Given the description of an element on the screen output the (x, y) to click on. 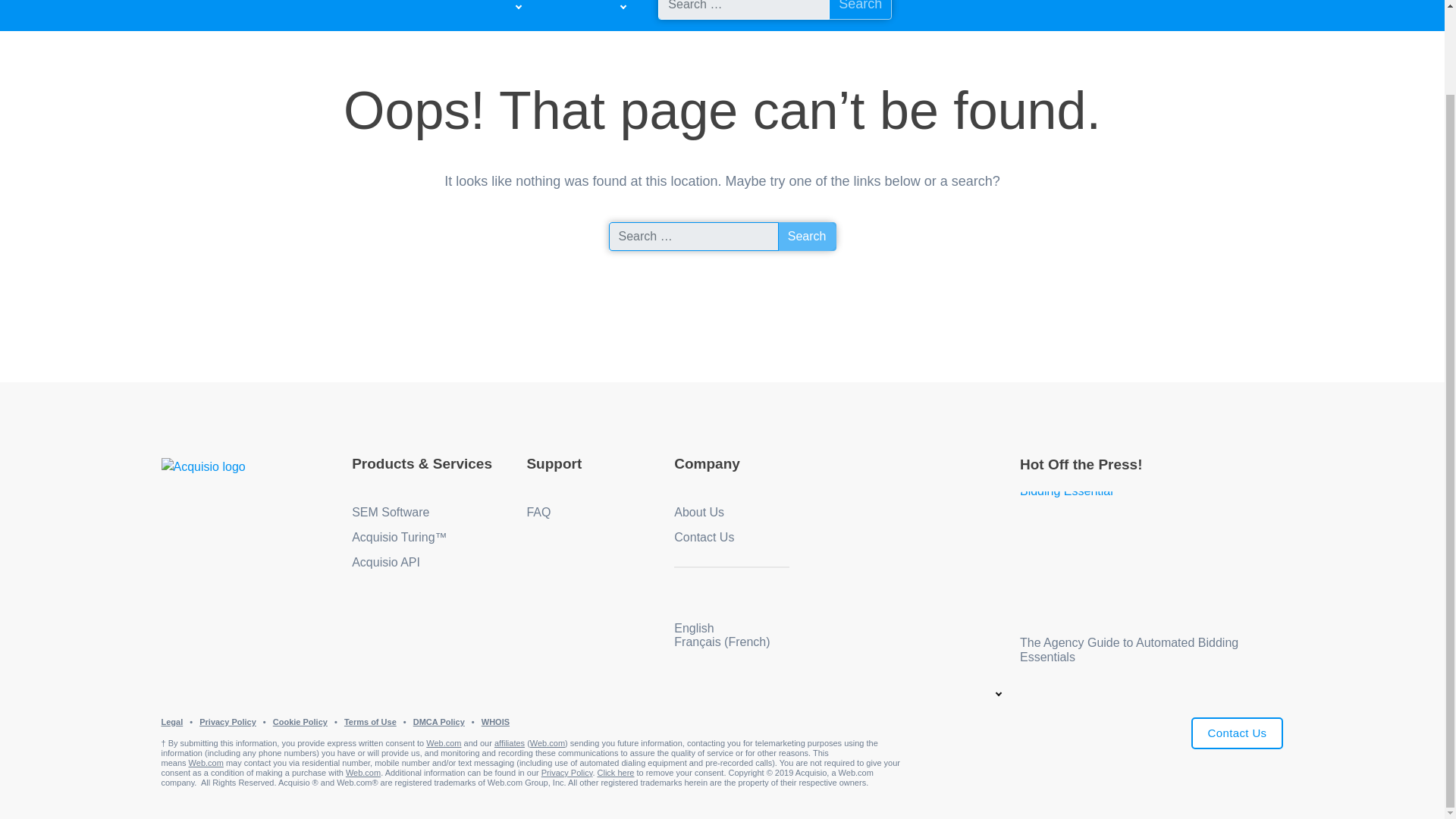
Privacy Policy (227, 721)
Search (806, 235)
Search (859, 9)
Search (806, 235)
Contact Us (1237, 733)
Company (706, 463)
affiliates (509, 742)
Legal (171, 721)
Support (552, 463)
About Us (698, 512)
Terms of Use (369, 721)
Cookie Policy (300, 721)
Web.com (443, 742)
SEM Software (390, 512)
DMCA Policy (438, 721)
